Given the description of an element on the screen output the (x, y) to click on. 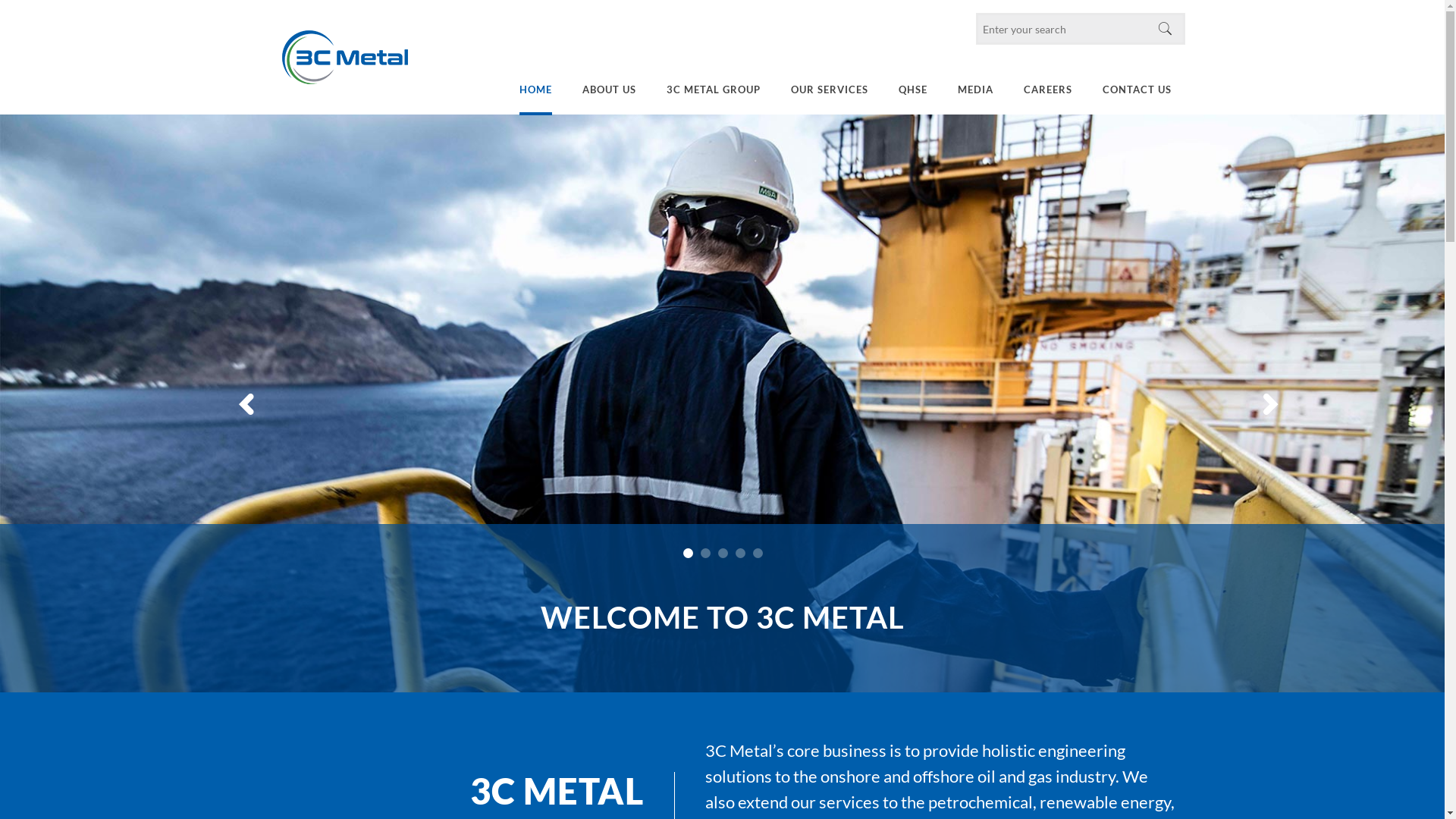
HOME Element type: text (535, 89)
CAREERS Element type: text (1047, 89)
ABOUT US Element type: text (609, 89)
3C Metal Element type: hover (344, 57)
OUR SERVICES Element type: text (829, 89)
MEDIA Element type: text (975, 89)
CONTACT US Element type: text (1136, 89)
QHSE Element type: text (912, 89)
3C METAL GROUP Element type: text (713, 89)
